Given the description of an element on the screen output the (x, y) to click on. 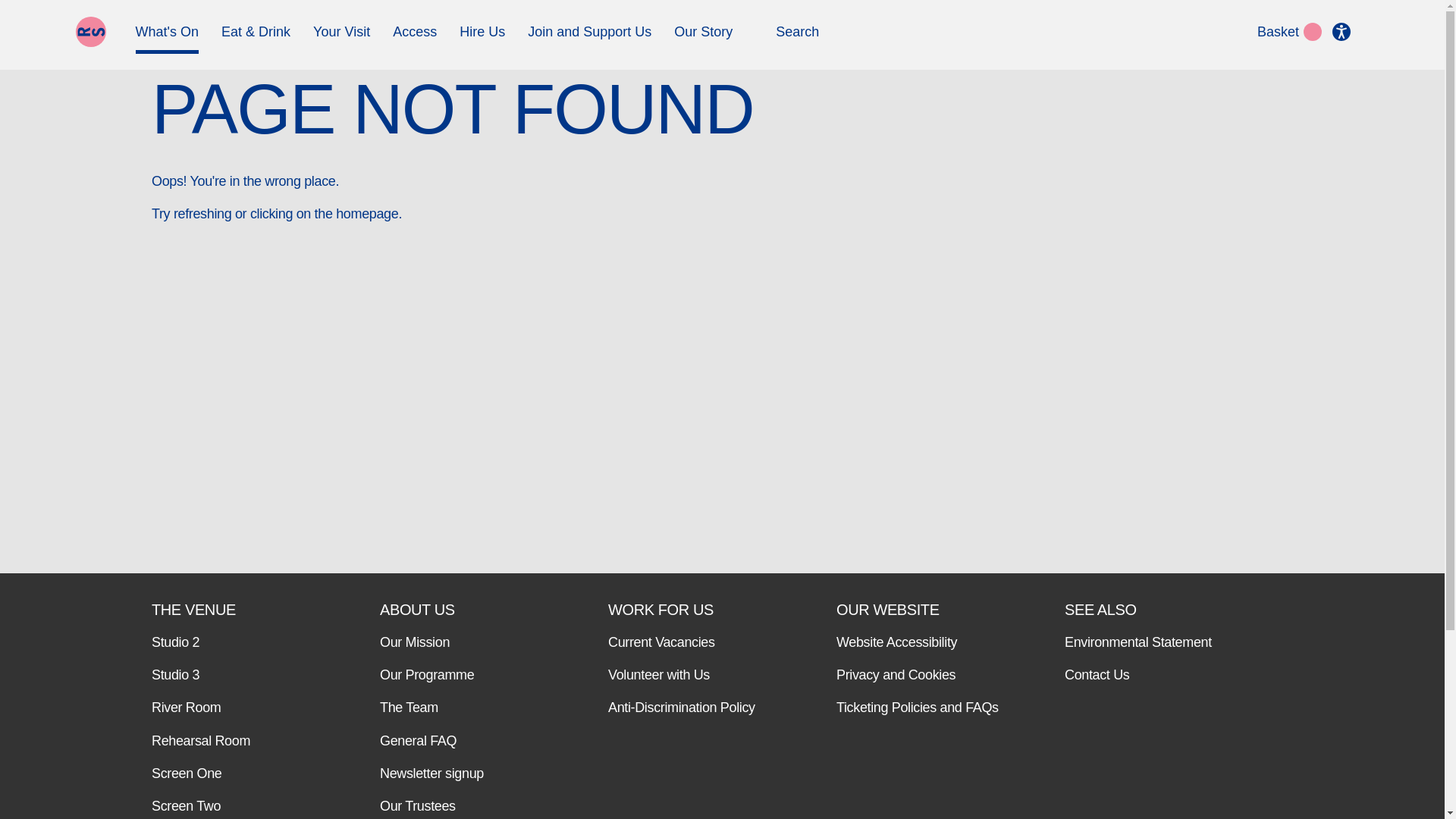
Riverside Studios Logo (90, 31)
Your Visit (341, 37)
What's On (166, 37)
Our Story (703, 37)
Access (414, 37)
Join and Support Us (588, 37)
Studio 3 (234, 674)
Join and Support Us (588, 37)
River Room (234, 707)
Your Visit (341, 37)
